Given the description of an element on the screen output the (x, y) to click on. 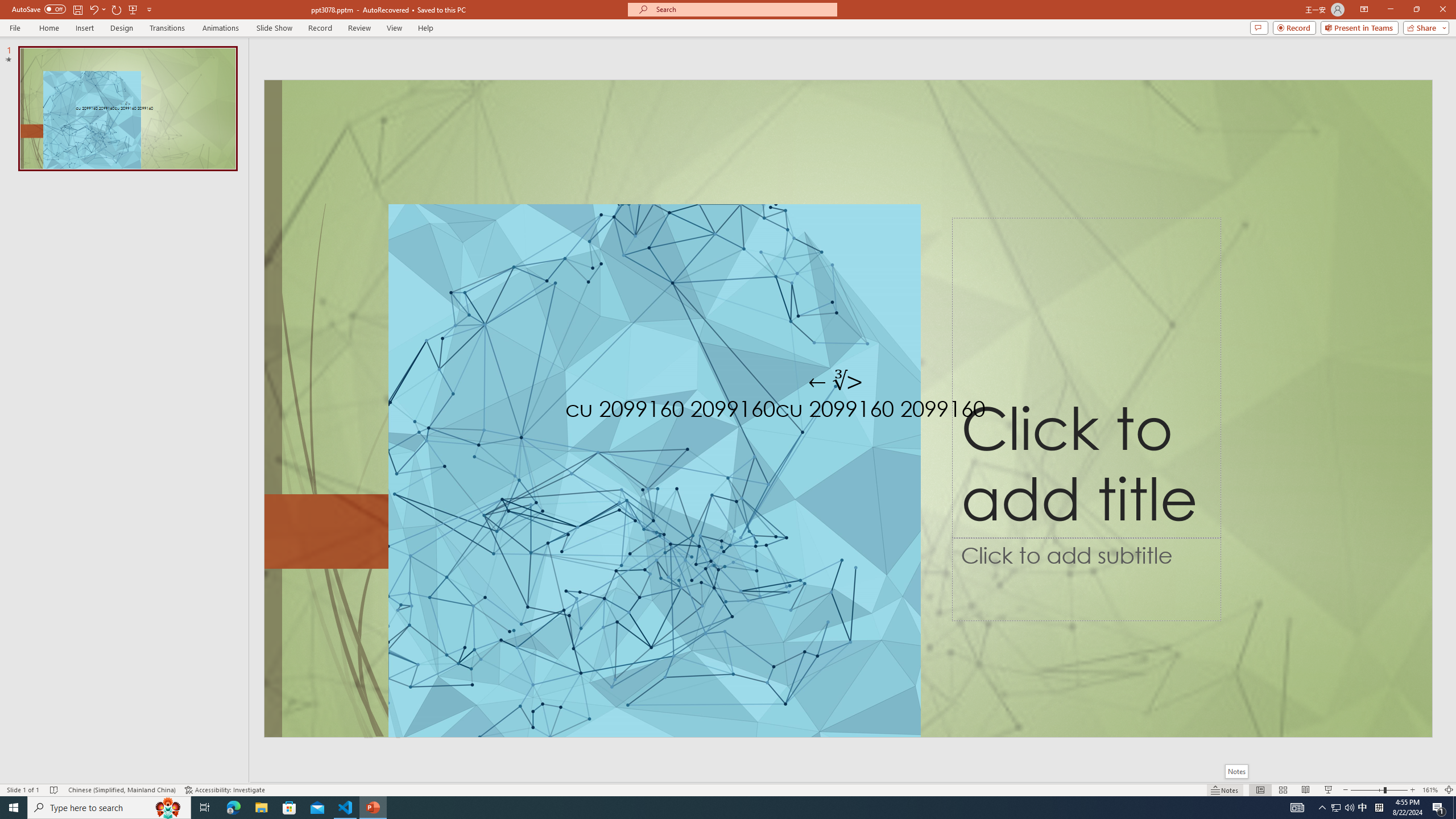
Zoom 161% (1430, 790)
